Given the description of an element on the screen output the (x, y) to click on. 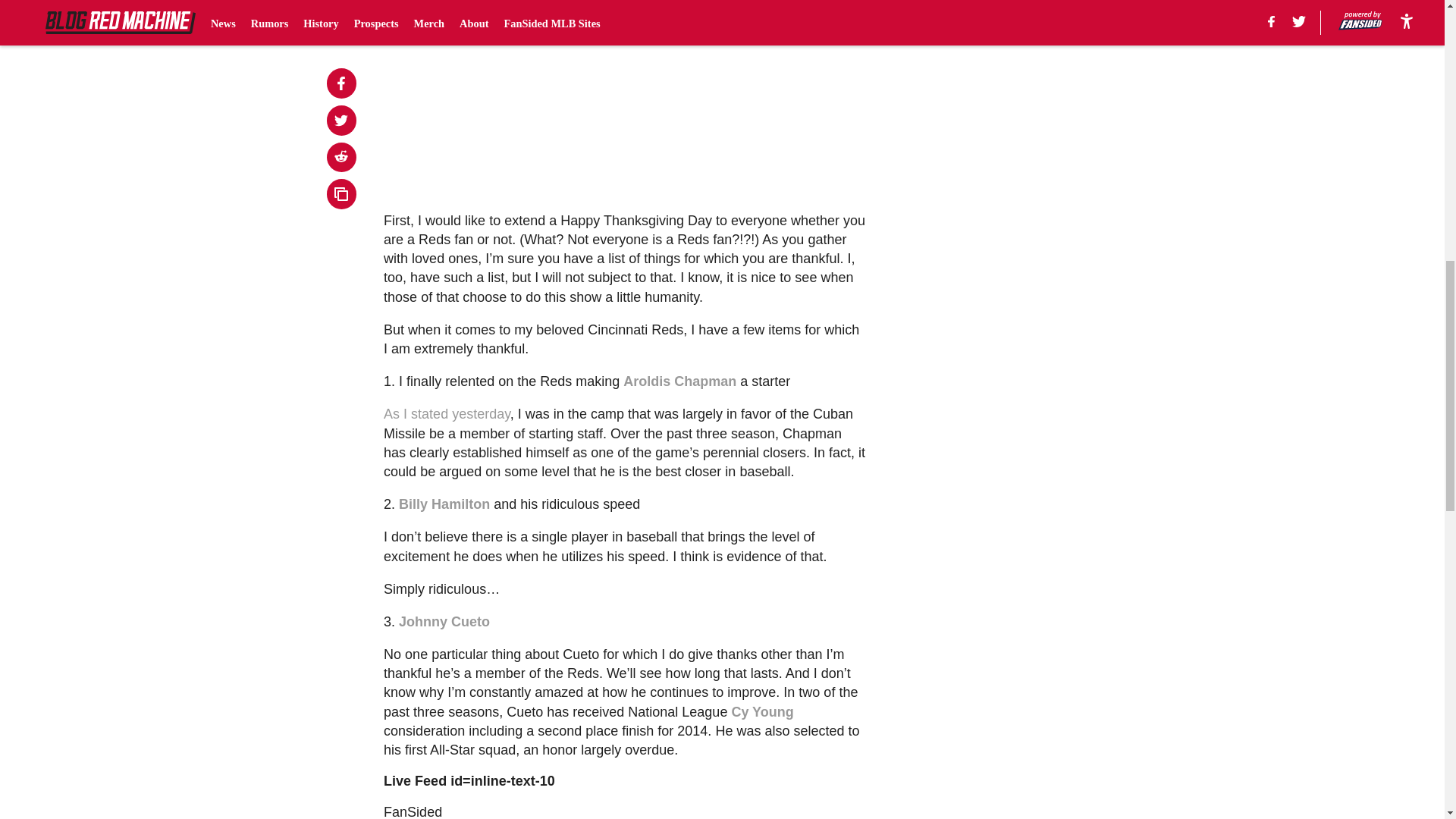
As I stated yesterday (447, 413)
Cy Young (761, 711)
Aroldis Chapman (679, 381)
Johnny Cueto (443, 621)
Billy Hamilton (443, 503)
